Given the description of an element on the screen output the (x, y) to click on. 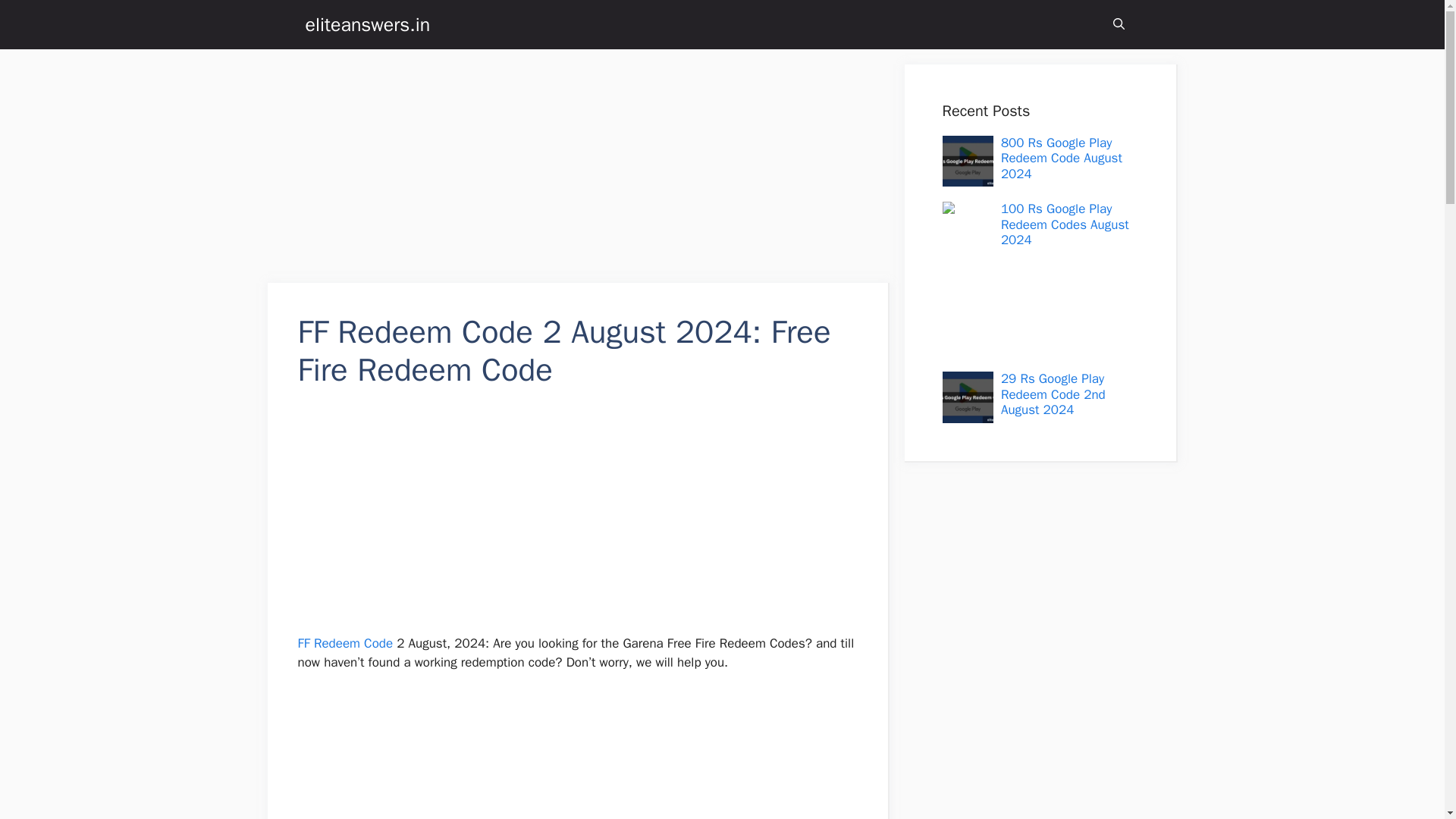
FF Redeem Code (345, 643)
29 Rs Google Play Redeem Code 2nd August 2024 (1053, 394)
800 Rs Google Play Redeem Code August 2024 (1061, 158)
eliteanswers.in (366, 24)
100 Rs Google Play Redeem Codes August 2024 (1065, 224)
